Given the description of an element on the screen output the (x, y) to click on. 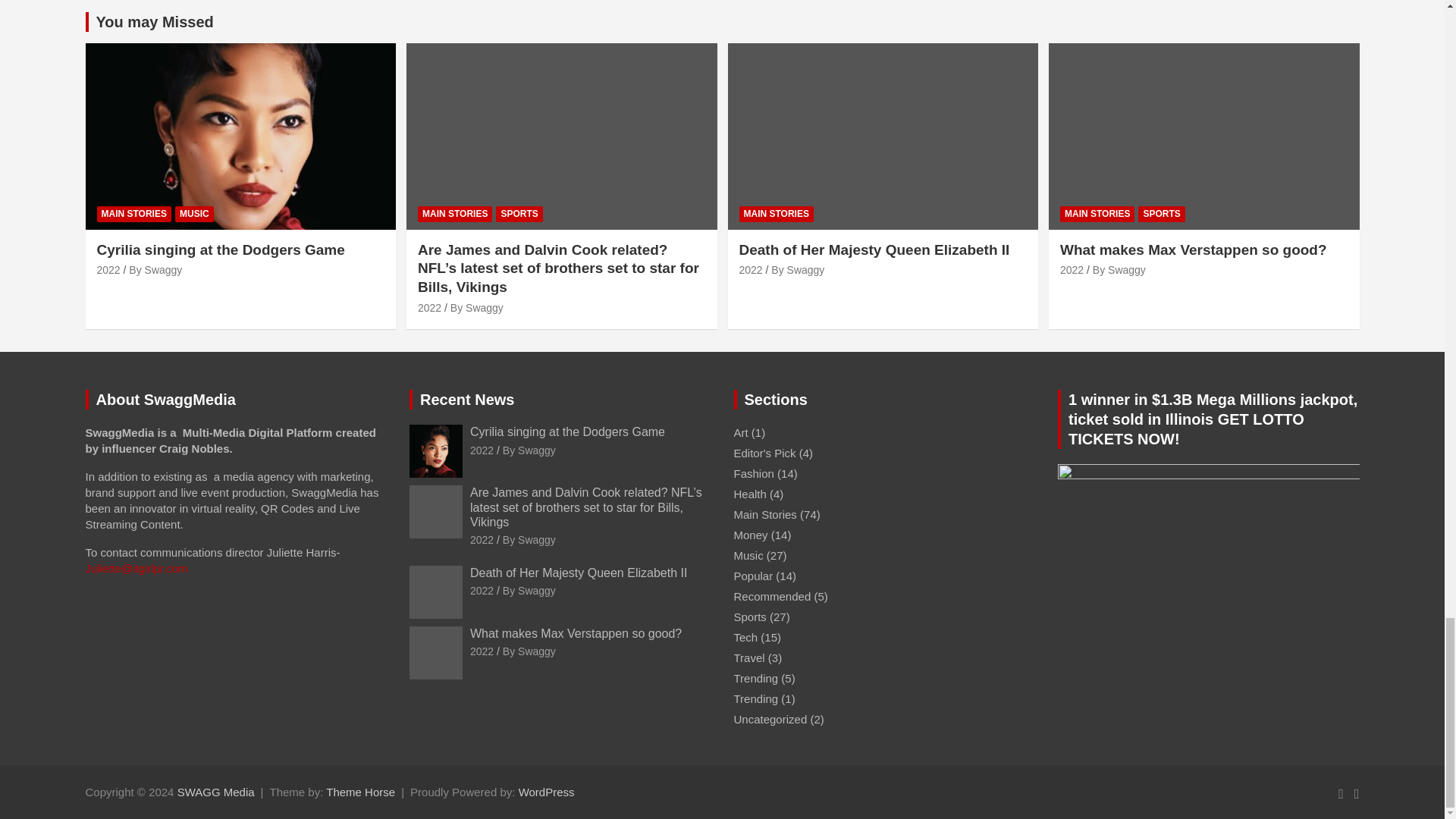
Death of Her Majesty Queen Elizabeth II (481, 590)
What makes Max Verstappen so good? (481, 651)
What makes Max Verstappen so good? (1071, 269)
Death of Her Majesty Queen Elizabeth II (749, 269)
Cyrilia singing at the Dodgers Game (108, 269)
Cyrilia singing at the Dodgers Game (481, 450)
Theme Horse (360, 791)
SWAGG Media (215, 791)
